Given the description of an element on the screen output the (x, y) to click on. 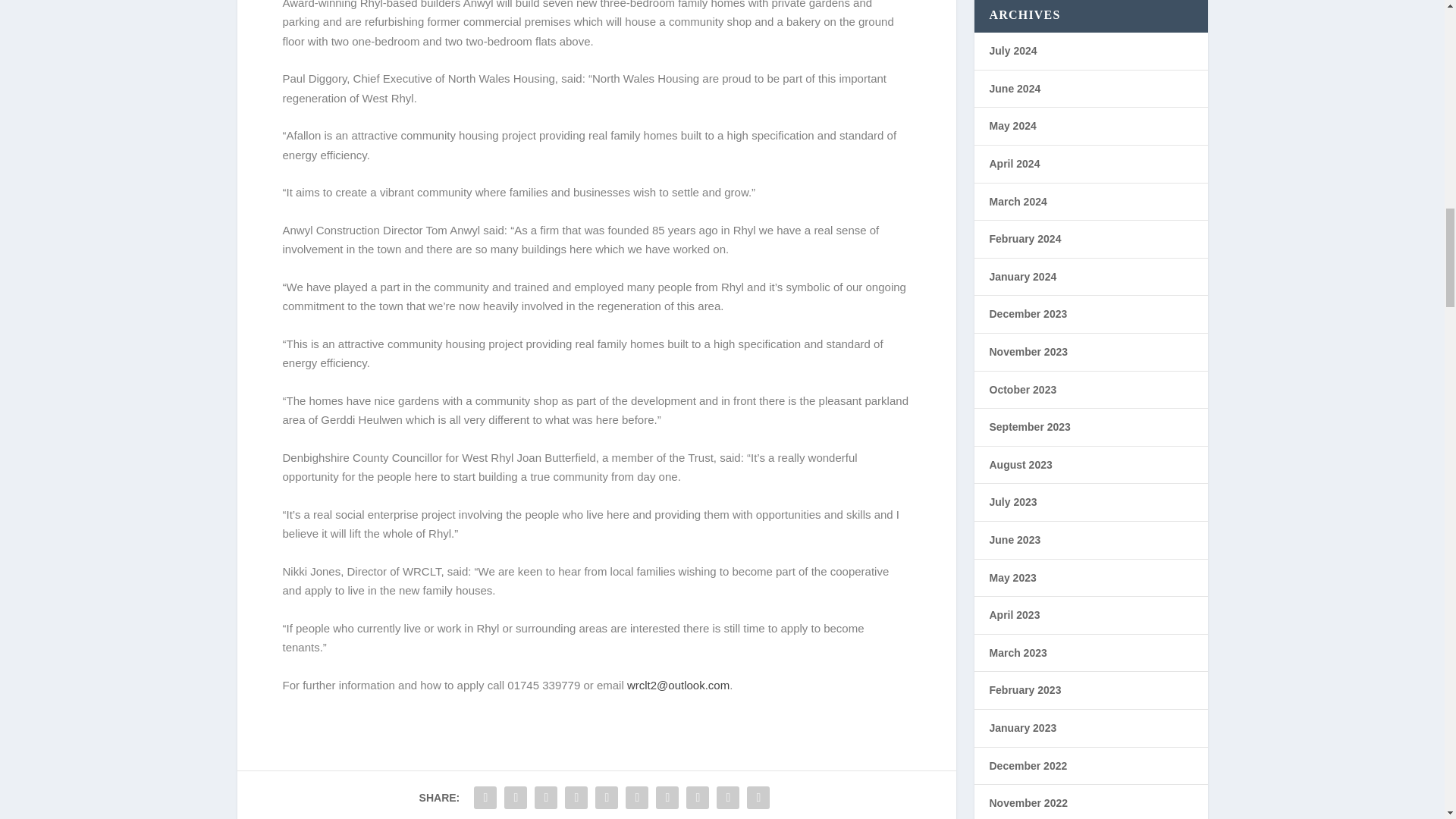
Share "Brand new family housing for West Rhyl" via Facebook (485, 797)
Share "Brand new family housing for West Rhyl" via Buffer (667, 797)
Share "Brand new family housing for West Rhyl" via Email (727, 797)
Share "Brand new family housing for West Rhyl" via Tumblr (575, 797)
Share "Brand new family housing for West Rhyl" via Pinterest (606, 797)
Share "Brand new family housing for West Rhyl" via Twitter (515, 797)
Share "Brand new family housing for West Rhyl" via LinkedIn (636, 797)
Share "Brand new family housing for West Rhyl" via Print (757, 797)
